Given the description of an element on the screen output the (x, y) to click on. 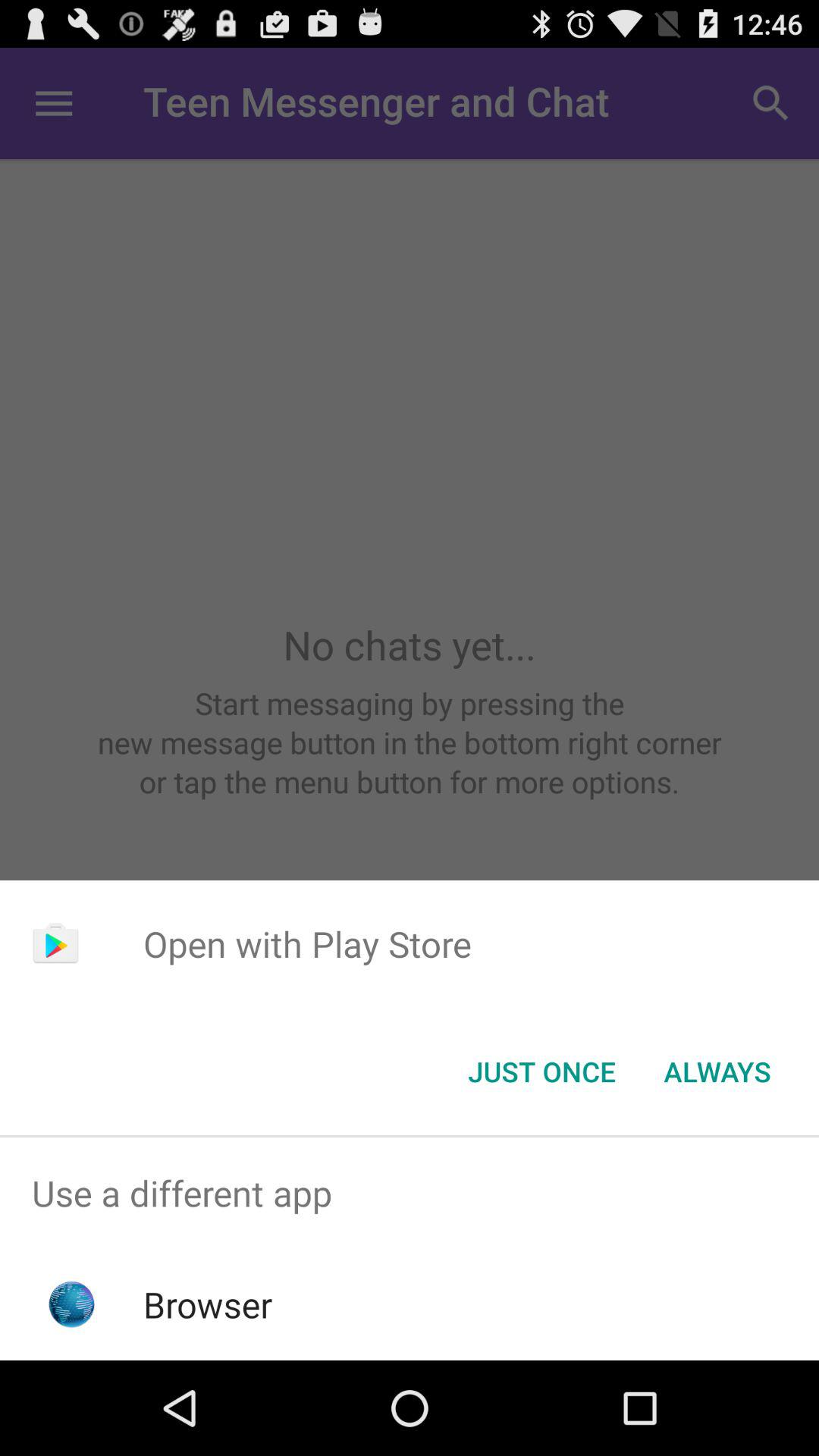
choose app below the open with play app (541, 1071)
